Given the description of an element on the screen output the (x, y) to click on. 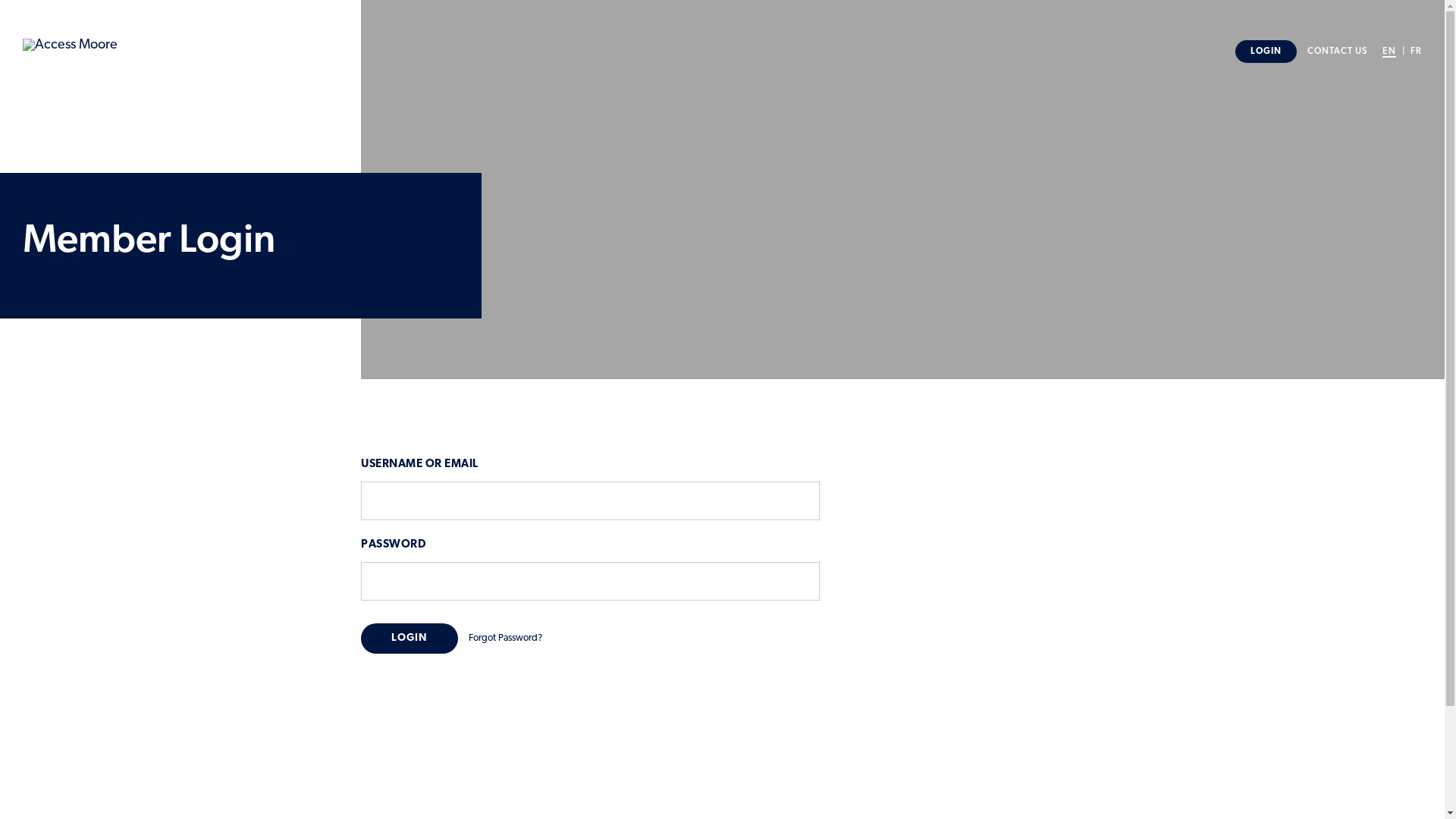
Forgot Password? Element type: text (505, 638)
Login Element type: text (409, 638)
EN Element type: text (1389, 52)
LOGIN Element type: text (1265, 50)
FR Element type: text (1415, 51)
CONTACT US Element type: text (1337, 51)
